Given the description of an element on the screen output the (x, y) to click on. 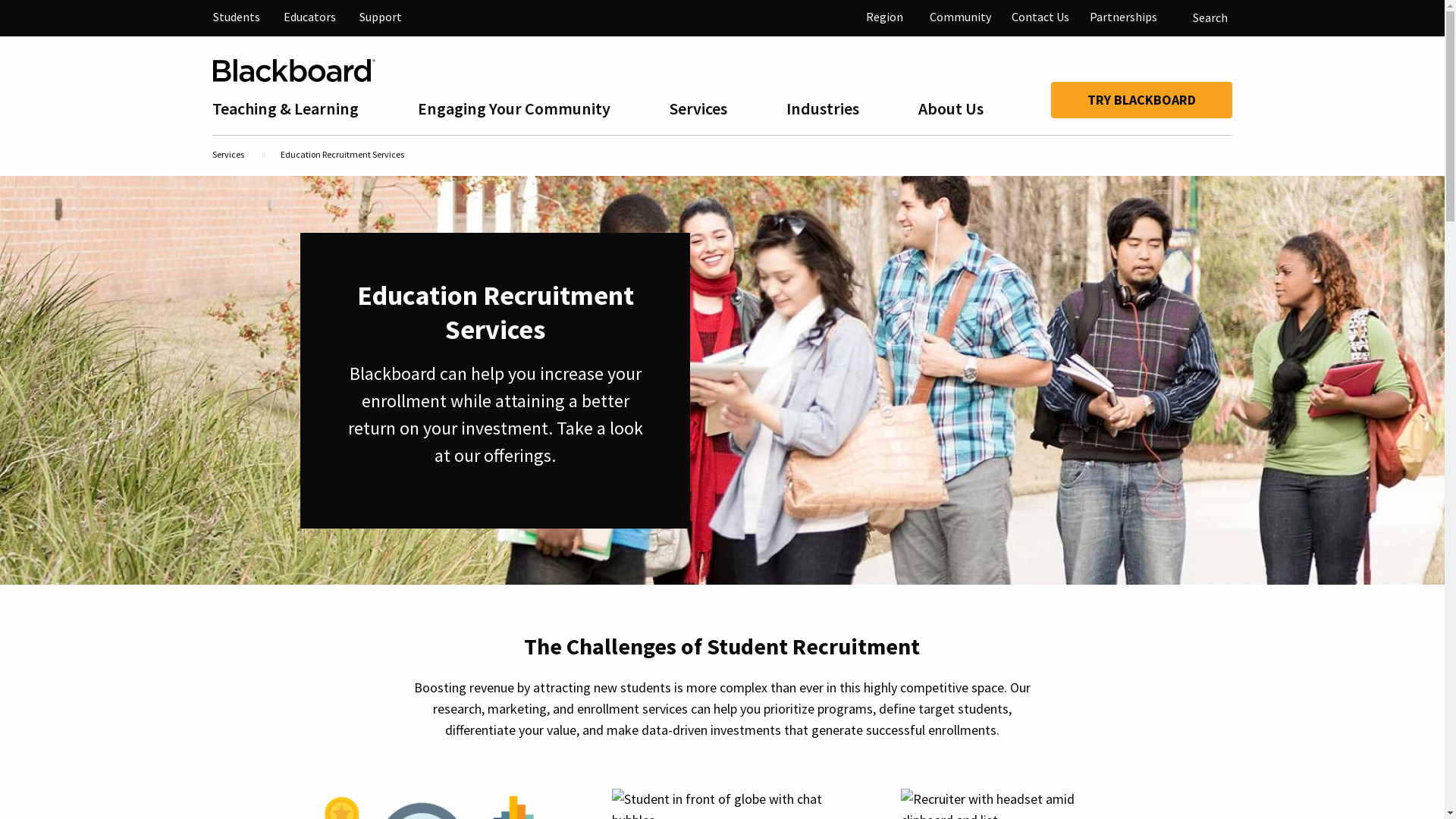
Industries Element type: text (832, 110)
Skip to main content Element type: text (0, 0)
Support Element type: text (380, 17)
Services Element type: text (708, 110)
Region Element type: text (884, 17)
Engaging Your Community Element type: text (523, 110)
Educators Element type: text (309, 17)
TRY BLACKBOARD Element type: text (1141, 99)
Students Element type: text (236, 17)
Contact Us Element type: text (1040, 17)
Teaching & Learning Element type: text (295, 110)
Services Element type: text (228, 154)
Community Element type: text (960, 17)
Partnerships Element type: text (1123, 17)
Search Element type: text (1199, 17)
About Us Element type: text (961, 110)
